Given the description of an element on the screen output the (x, y) to click on. 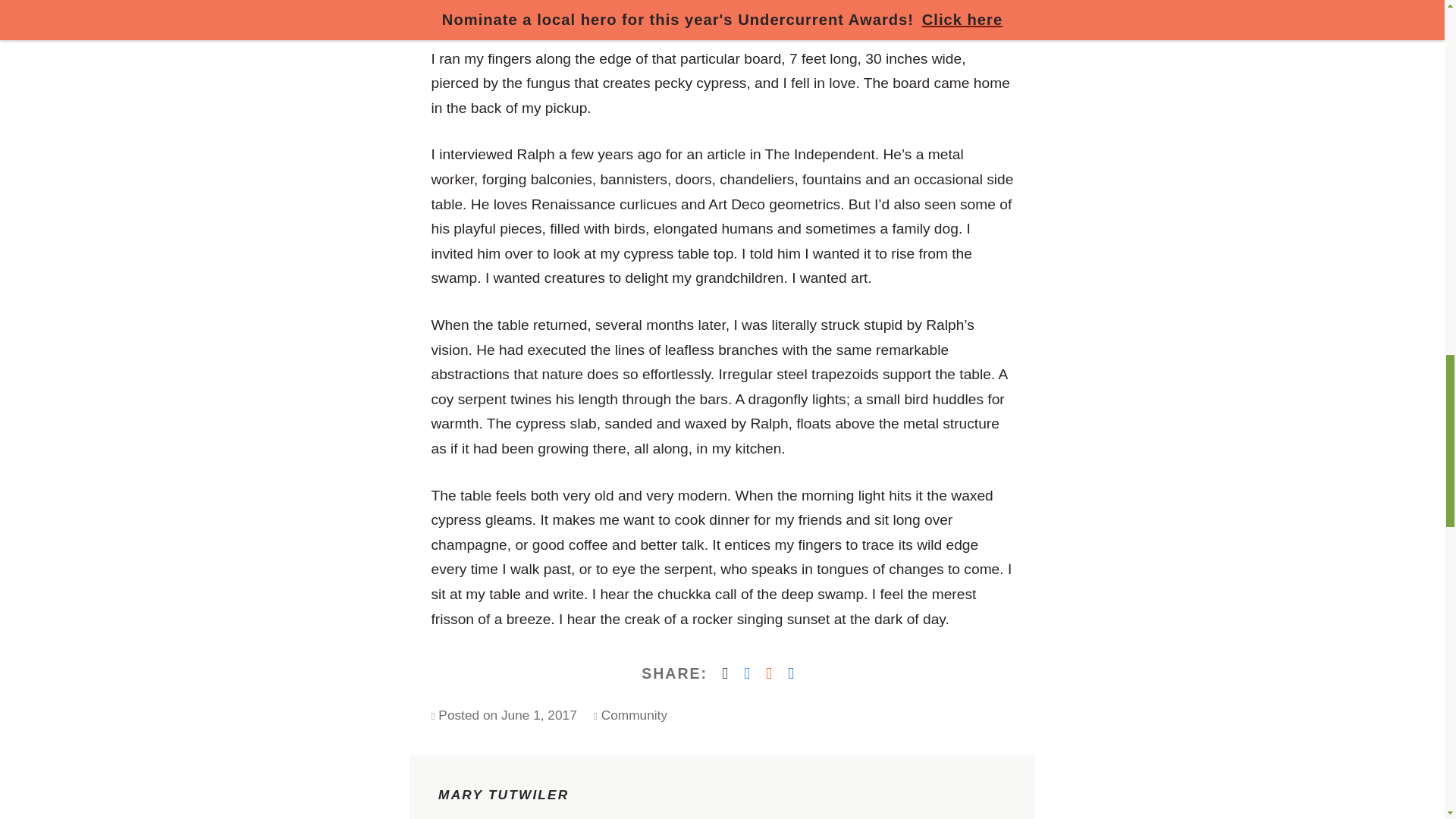
Published June 1, 2017 at 11:12 am (538, 714)
Community (633, 714)
